Given the description of an element on the screen output the (x, y) to click on. 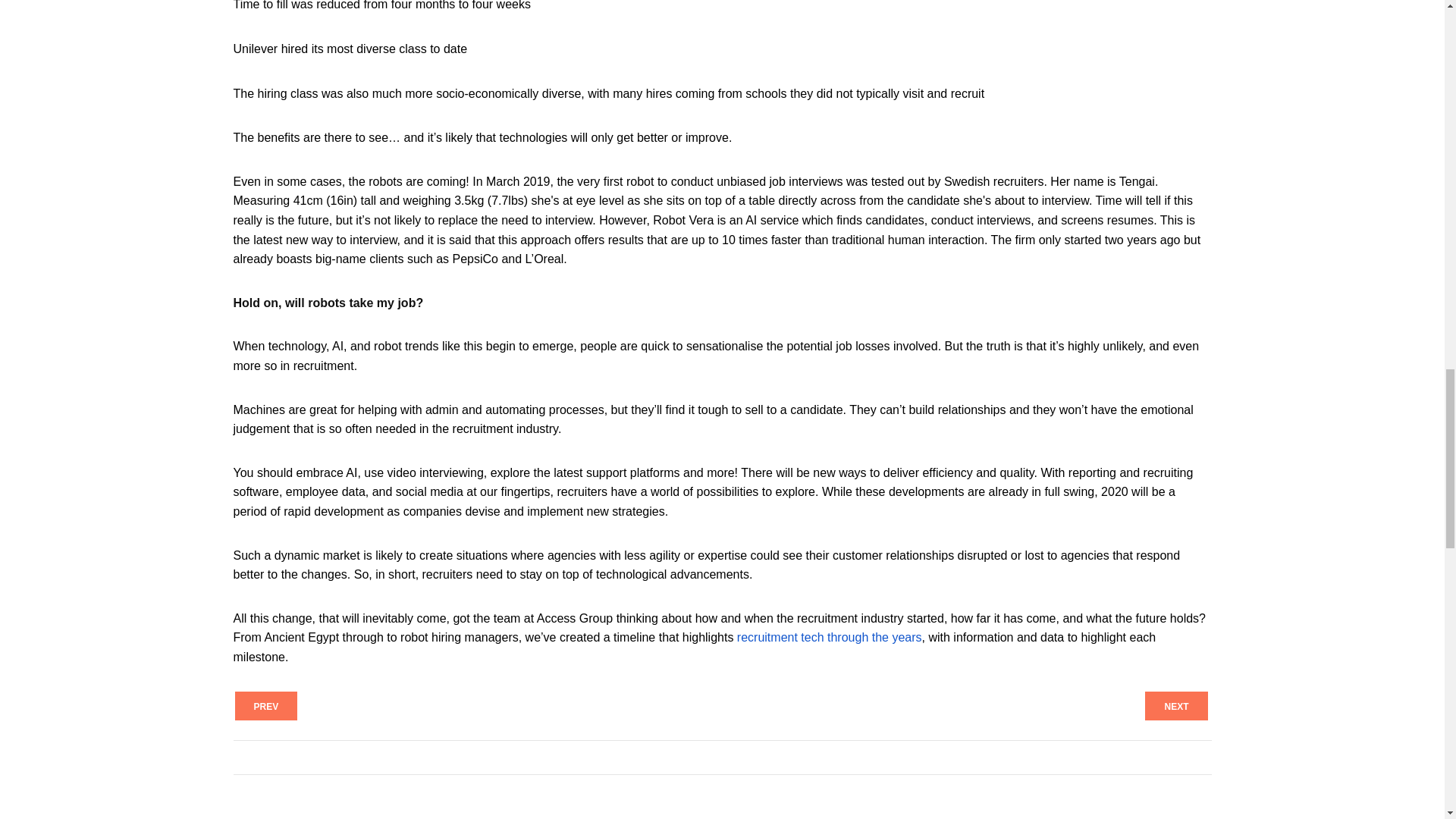
NEXT (1175, 705)
PREV (266, 705)
recruitment tech through the years (828, 636)
